Given the description of an element on the screen output the (x, y) to click on. 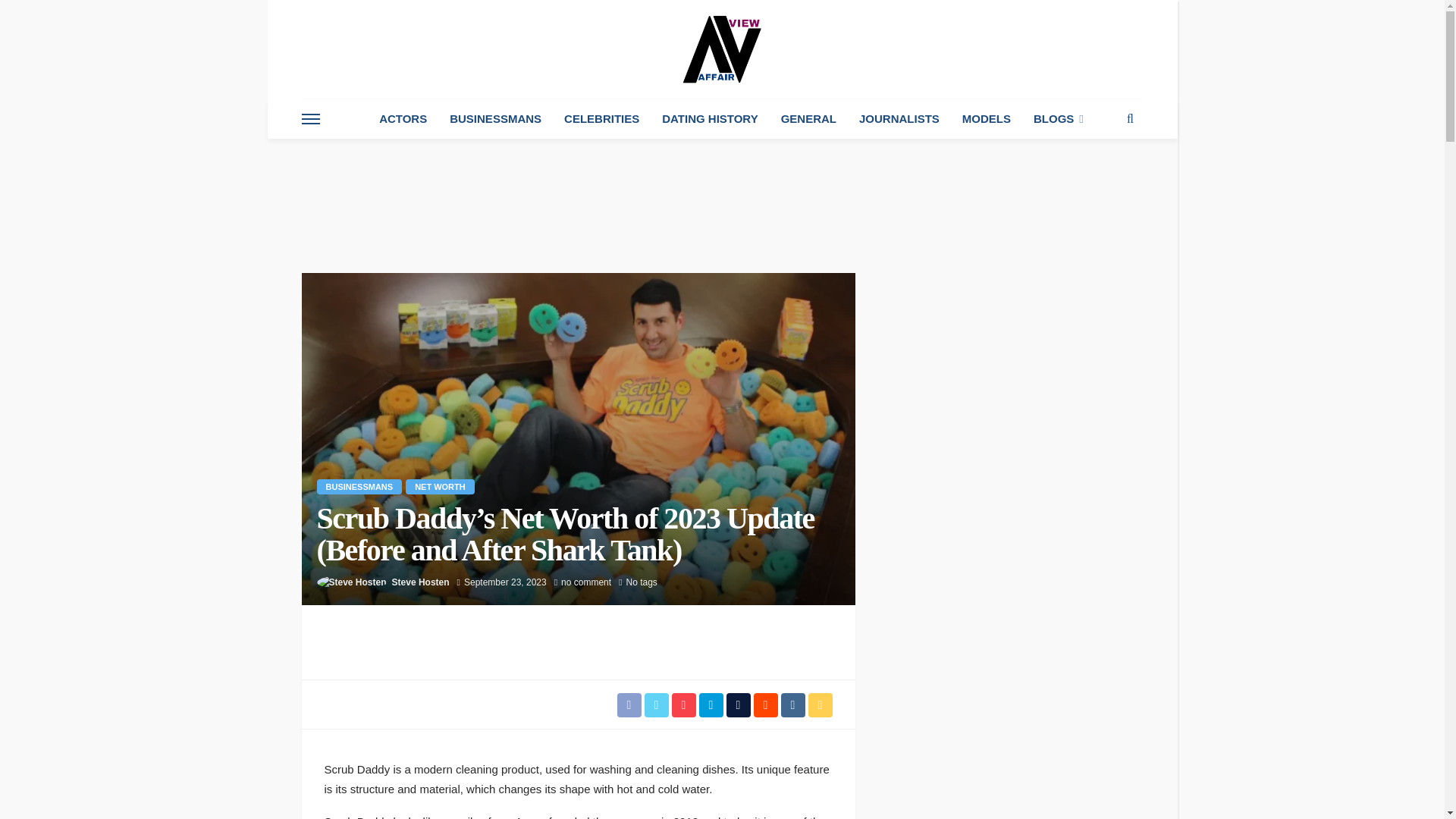
CELEBRITIES (601, 118)
DATING HISTORY (709, 118)
ACTORS (403, 118)
BUSINESSMANS (495, 118)
